Given the description of an element on the screen output the (x, y) to click on. 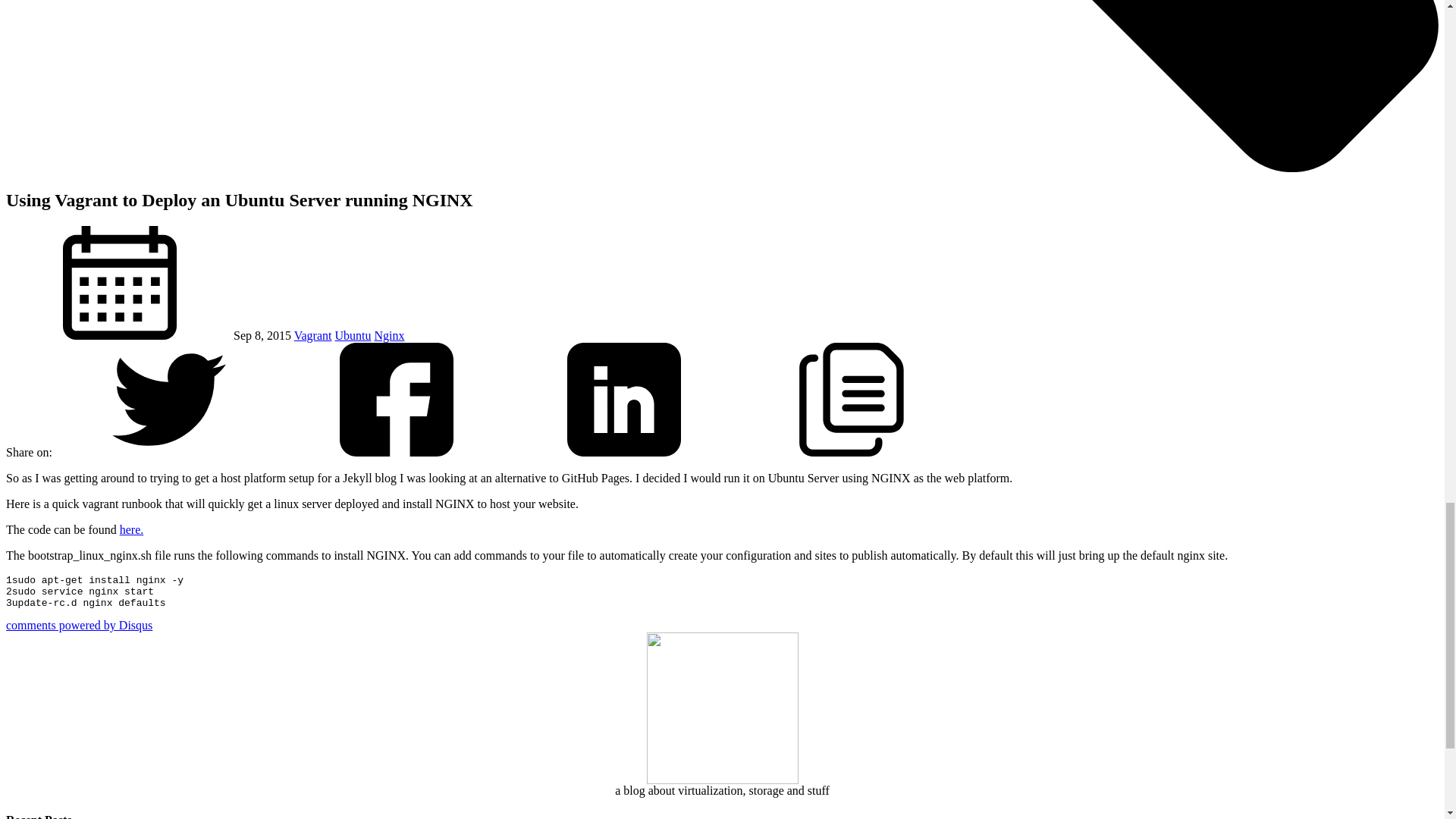
Share on LinkedIn (624, 451)
Ubuntu (352, 335)
Vagrant (312, 335)
Copy Link (851, 451)
here. (131, 529)
Share on Facebook (396, 451)
comments powered by Disqus (78, 625)
Nginx (389, 335)
Share on Twitter (168, 451)
